Given the description of an element on the screen output the (x, y) to click on. 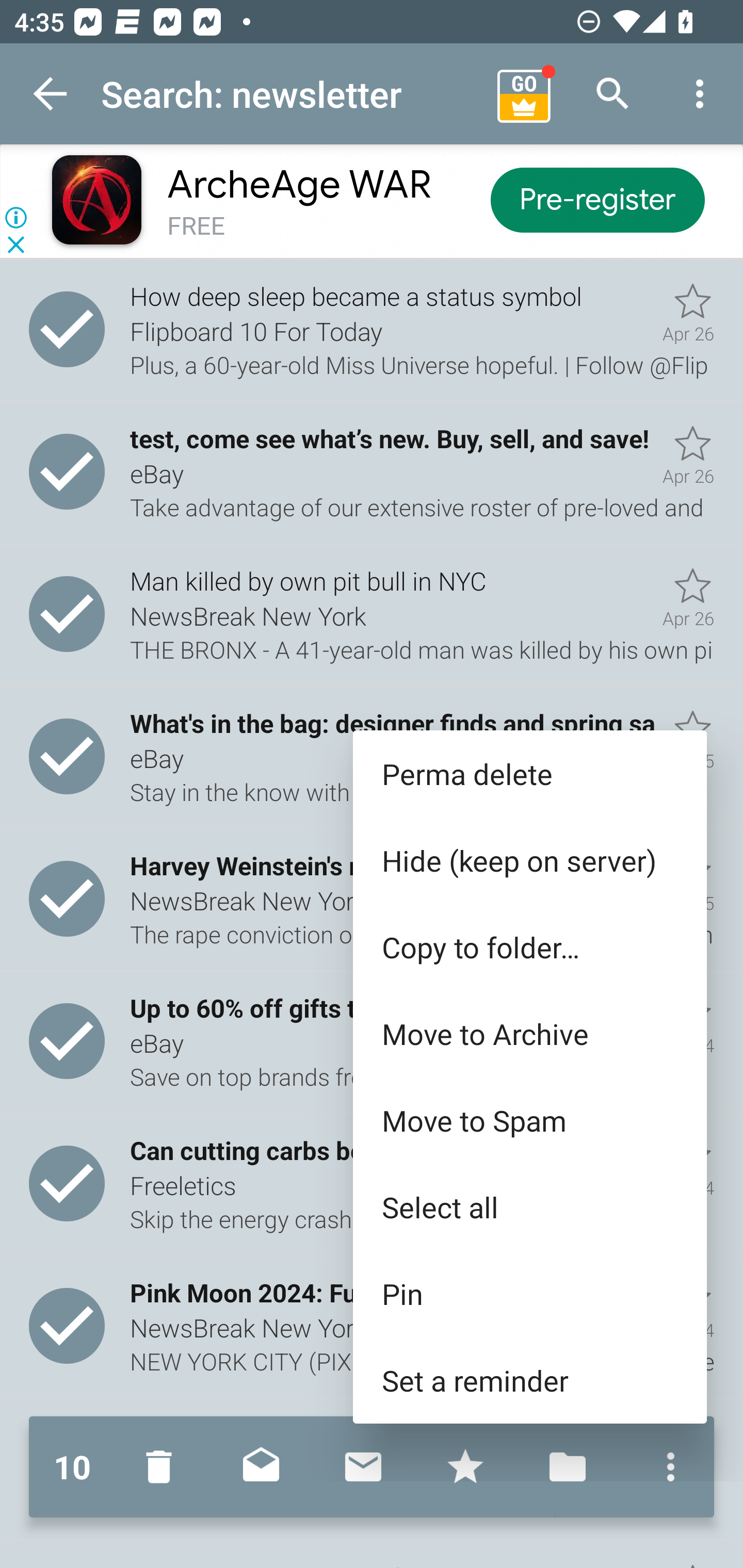
Perma delete (529, 773)
Hide (keep on server) (529, 859)
Copy to folder… (529, 946)
Move to Archive (529, 1033)
Move to Spam (529, 1120)
Select all (529, 1206)
Pin (529, 1293)
Set a reminder (529, 1380)
